Given the description of an element on the screen output the (x, y) to click on. 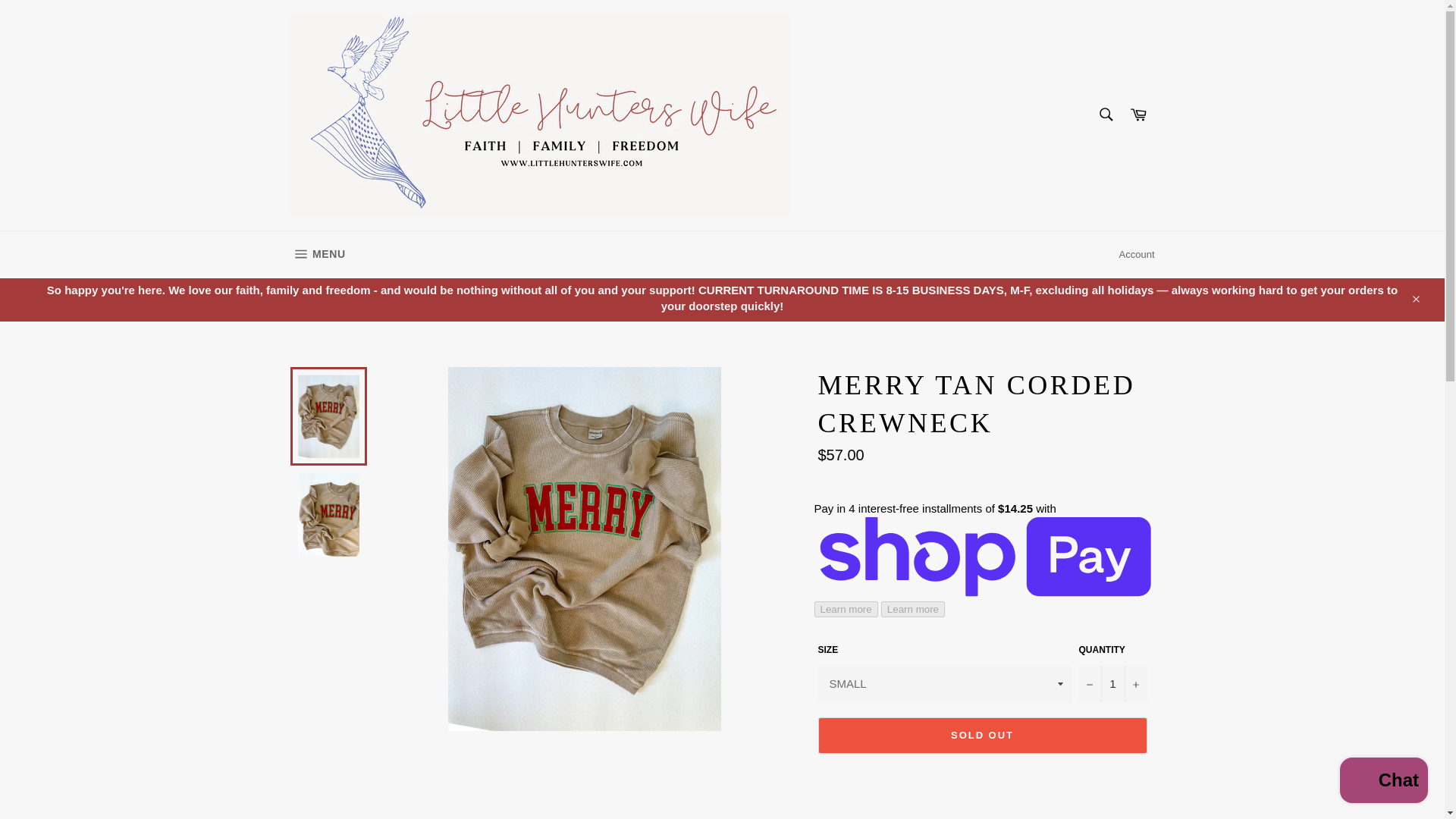
Search (1104, 114)
Shopify online store chat (1383, 781)
Cart (317, 254)
1 (1138, 115)
